Given the description of an element on the screen output the (x, y) to click on. 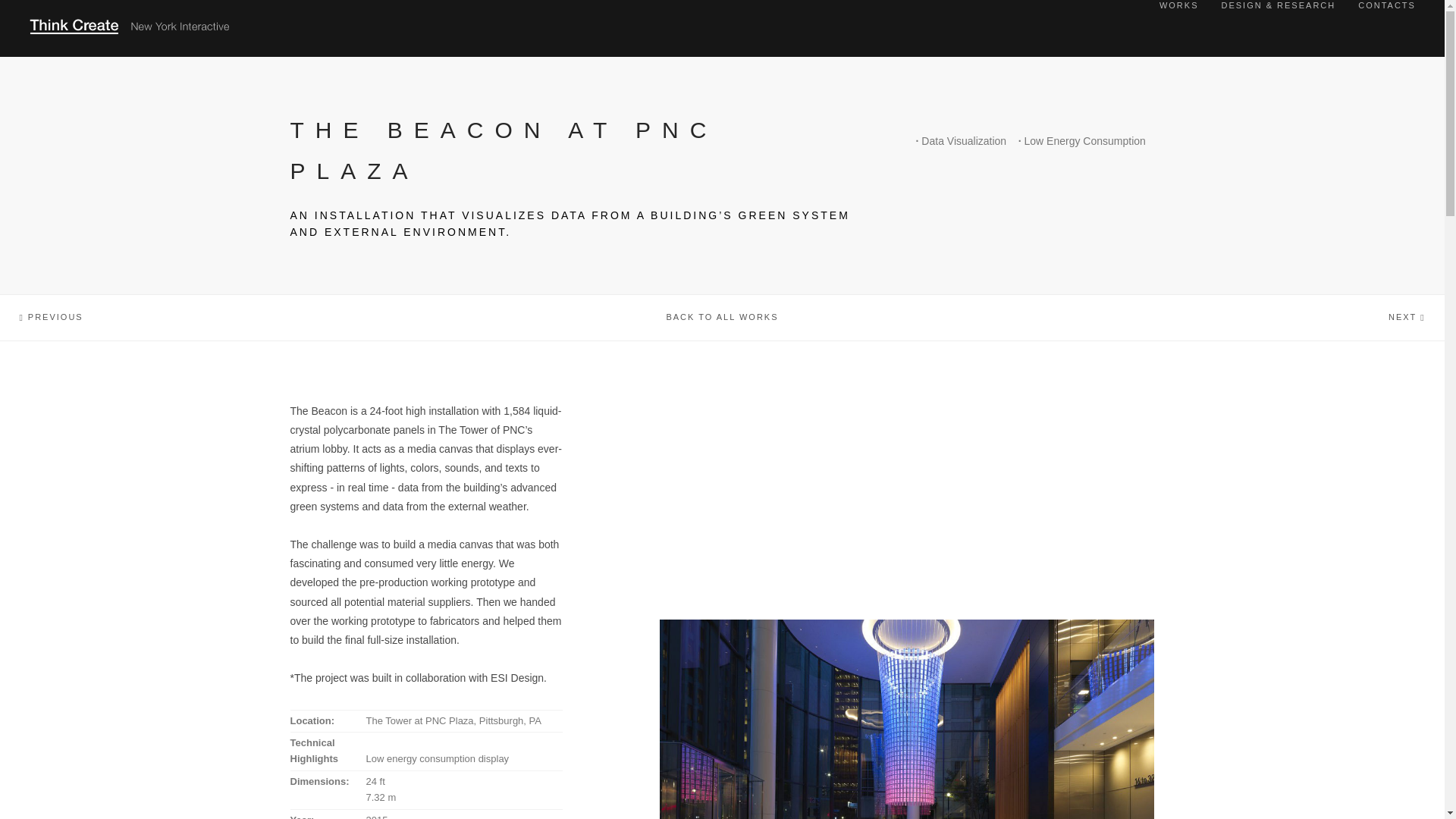
BACK TO ALL WORKS (721, 317)
WORKS (1178, 5)
 PREVIOUS (240, 317)
CONTACTS (1386, 5)
